Given the description of an element on the screen output the (x, y) to click on. 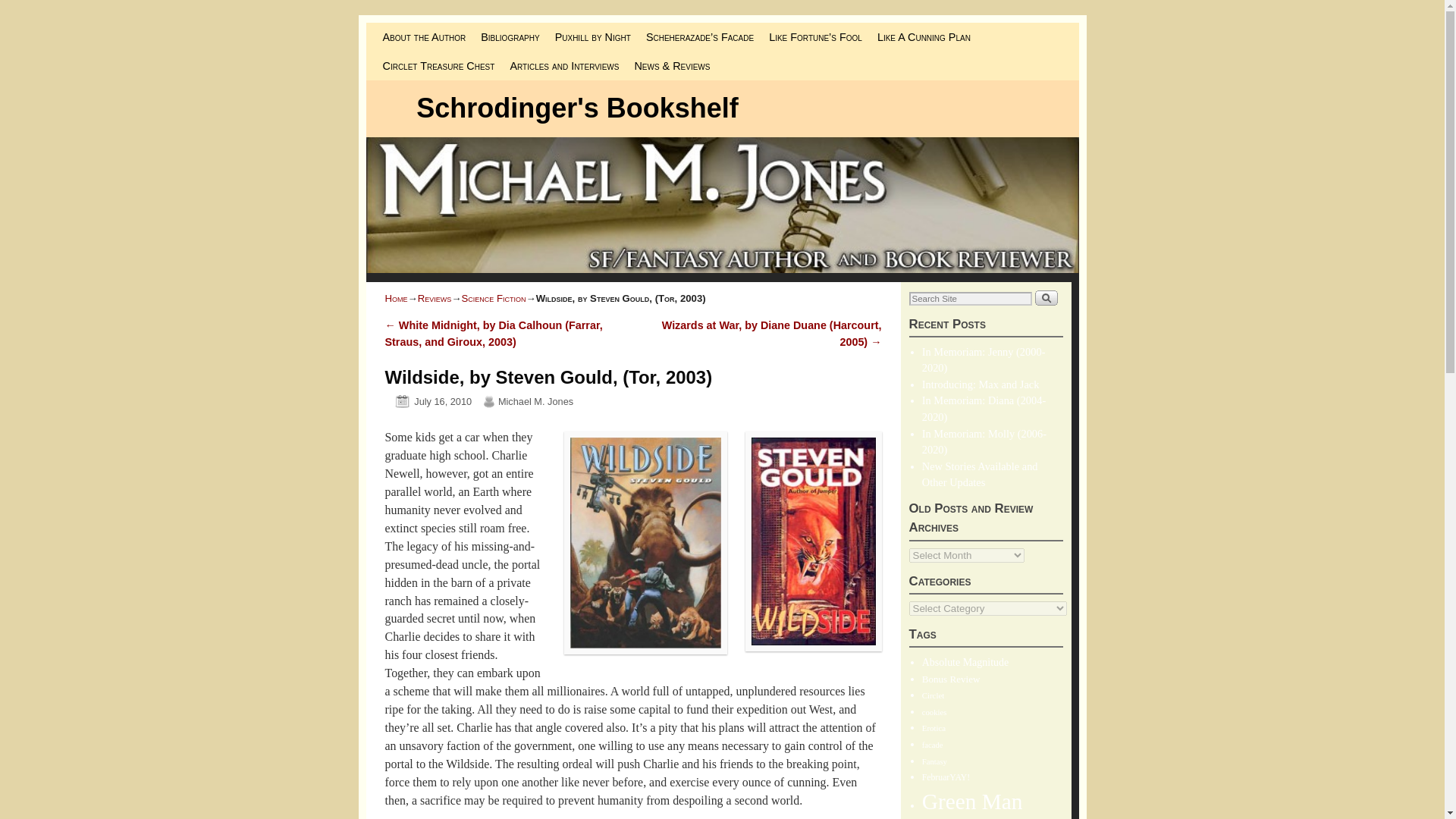
Science Fiction (493, 297)
Skip to secondary content (412, 29)
About the Author (423, 36)
Schrodinger's Bookshelf (577, 107)
July 16, 2010 (428, 401)
Reviews (434, 297)
Like A Cunning Plan (923, 36)
Circlet Treasure Chest (438, 65)
Puxhill by Night (593, 36)
Schrodinger's Bookshelf (577, 107)
